Given the description of an element on the screen output the (x, y) to click on. 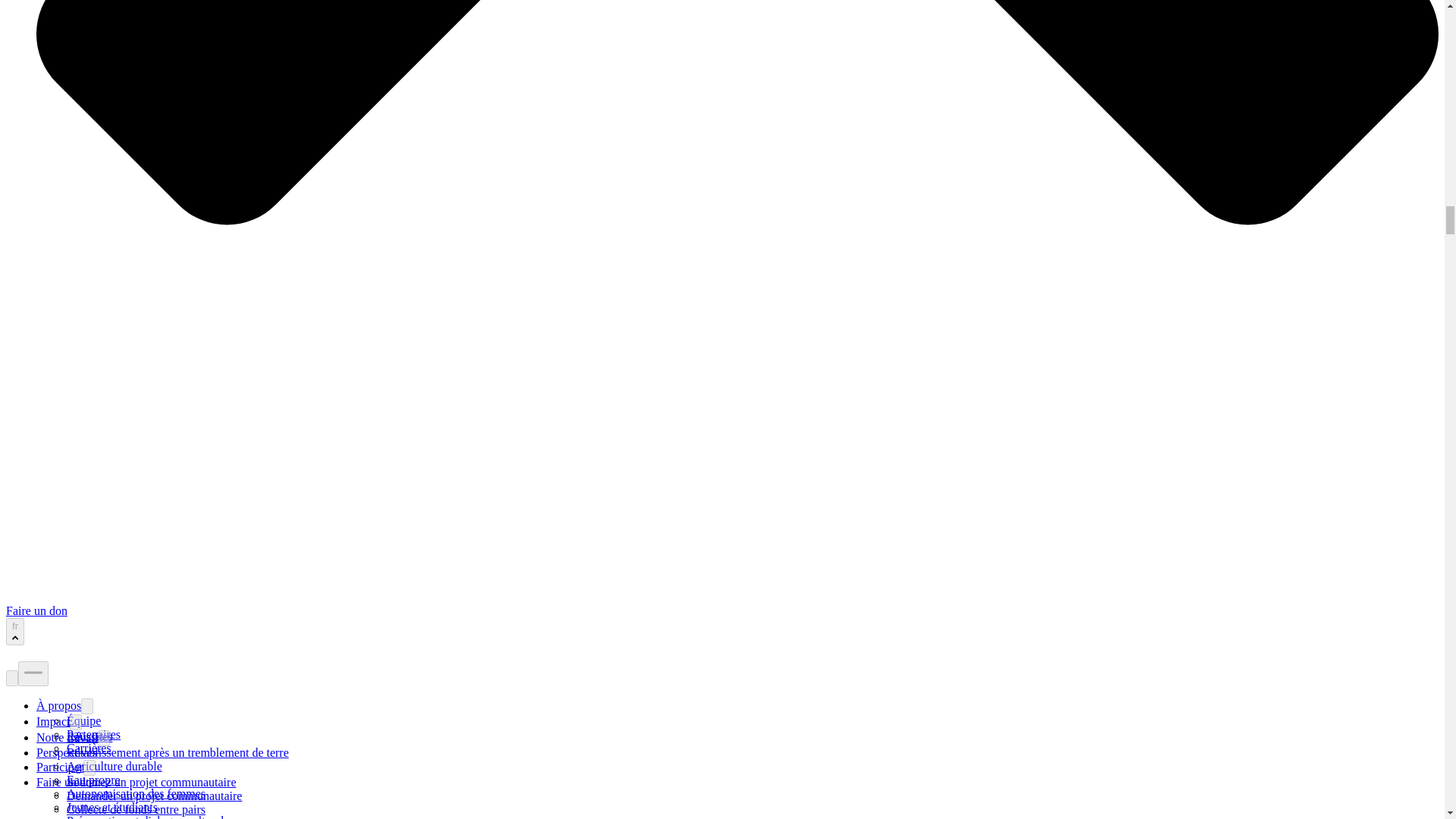
Faire un don (35, 610)
Impact (52, 721)
Partenaires (93, 734)
fr (14, 631)
